Given the description of an element on the screen output the (x, y) to click on. 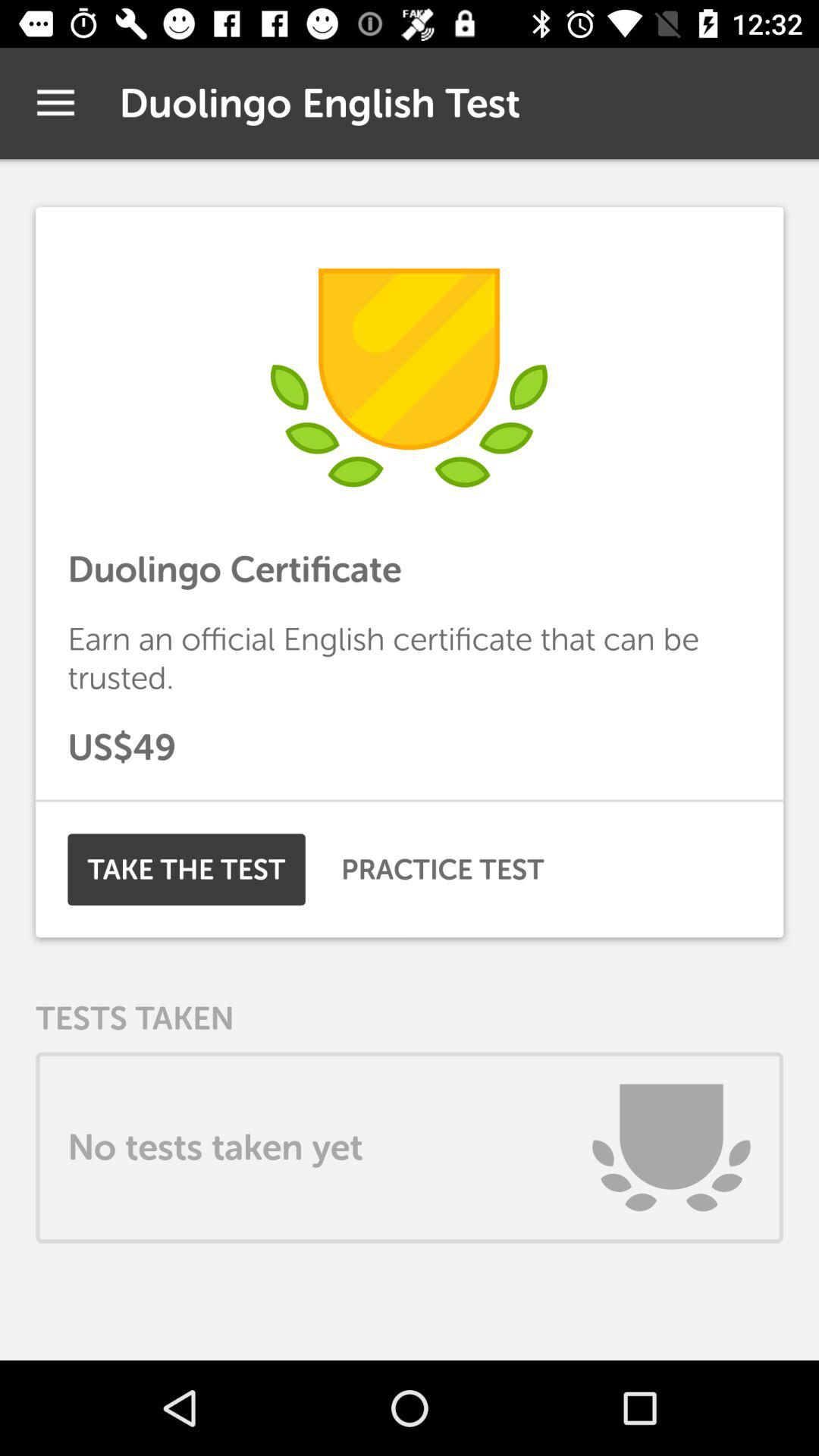
menu button (55, 103)
